Given the description of an element on the screen output the (x, y) to click on. 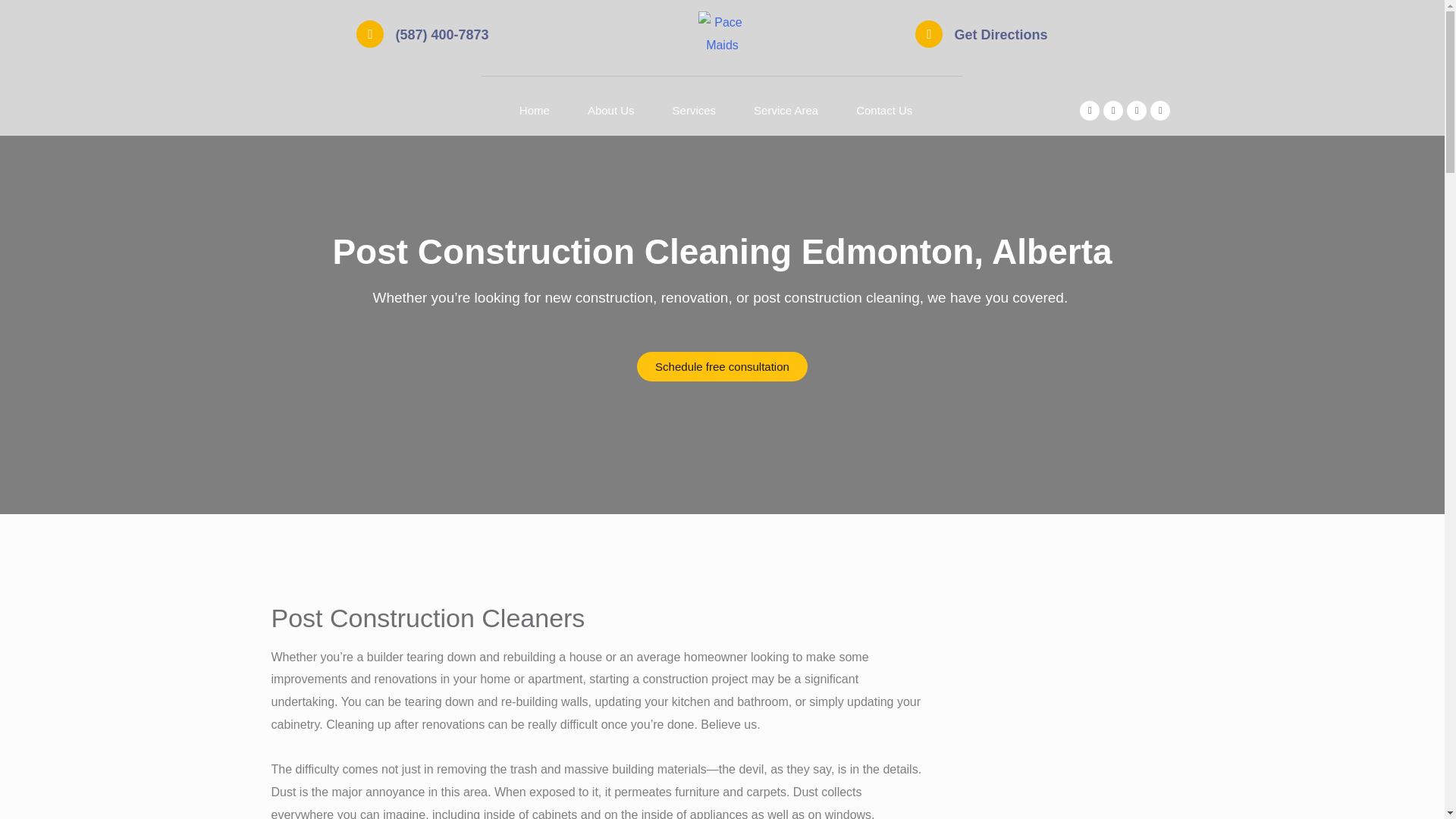
About Us (611, 110)
Get Directions (999, 34)
Contact Us (884, 110)
Service Area (786, 110)
Services (694, 110)
Home (534, 110)
